Given the description of an element on the screen output the (x, y) to click on. 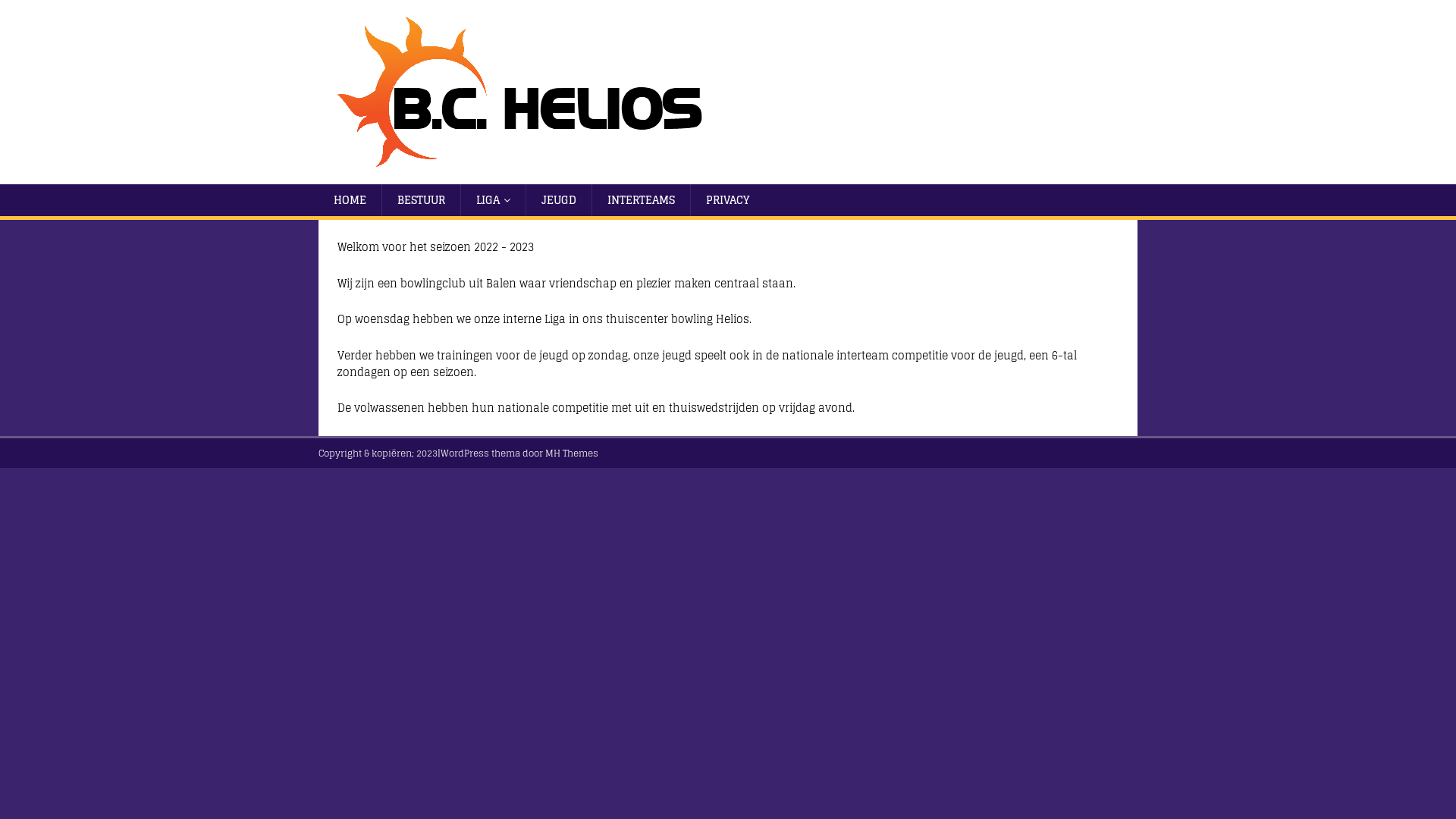
PRIVACY Element type: text (727, 200)
LIGA Element type: text (492, 200)
HOME Element type: text (349, 200)
INTERTEAMS Element type: text (640, 200)
MH Themes Element type: text (571, 453)
JEUGD Element type: text (558, 200)
BESTUUR Element type: text (420, 200)
